Given the description of an element on the screen output the (x, y) to click on. 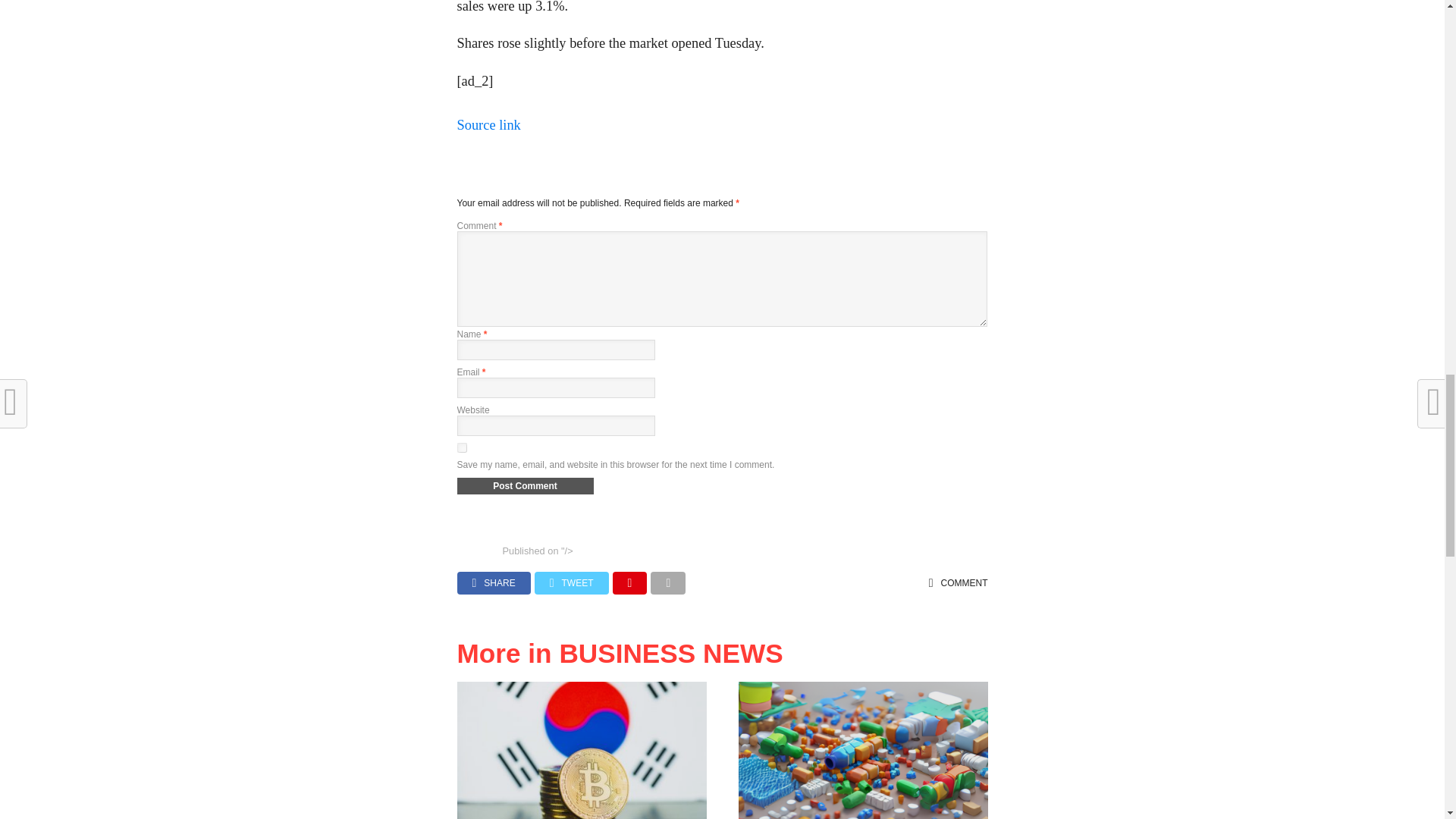
yes (461, 447)
Post Comment (524, 485)
Post Comment (524, 485)
Source link (488, 124)
